Given the description of an element on the screen output the (x, y) to click on. 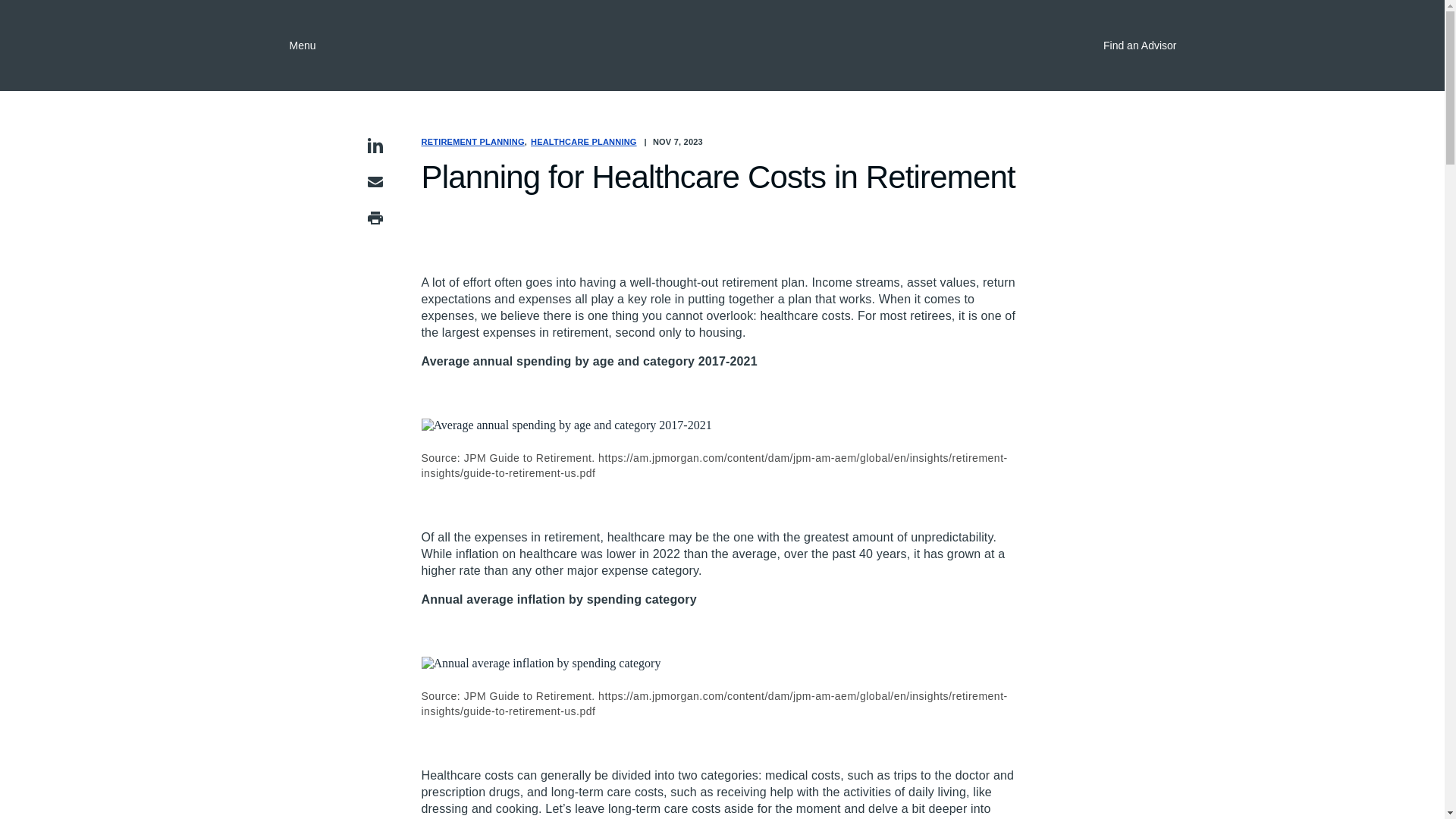
Menu (291, 45)
Retirement Planning (476, 141)
HEALTHCARE PLANNING (584, 141)
Find an Advisor (1128, 45)
Back to the homepage (722, 45)
RETIREMENT PLANNING (476, 141)
Healthcare Planning (584, 141)
